Given the description of an element on the screen output the (x, y) to click on. 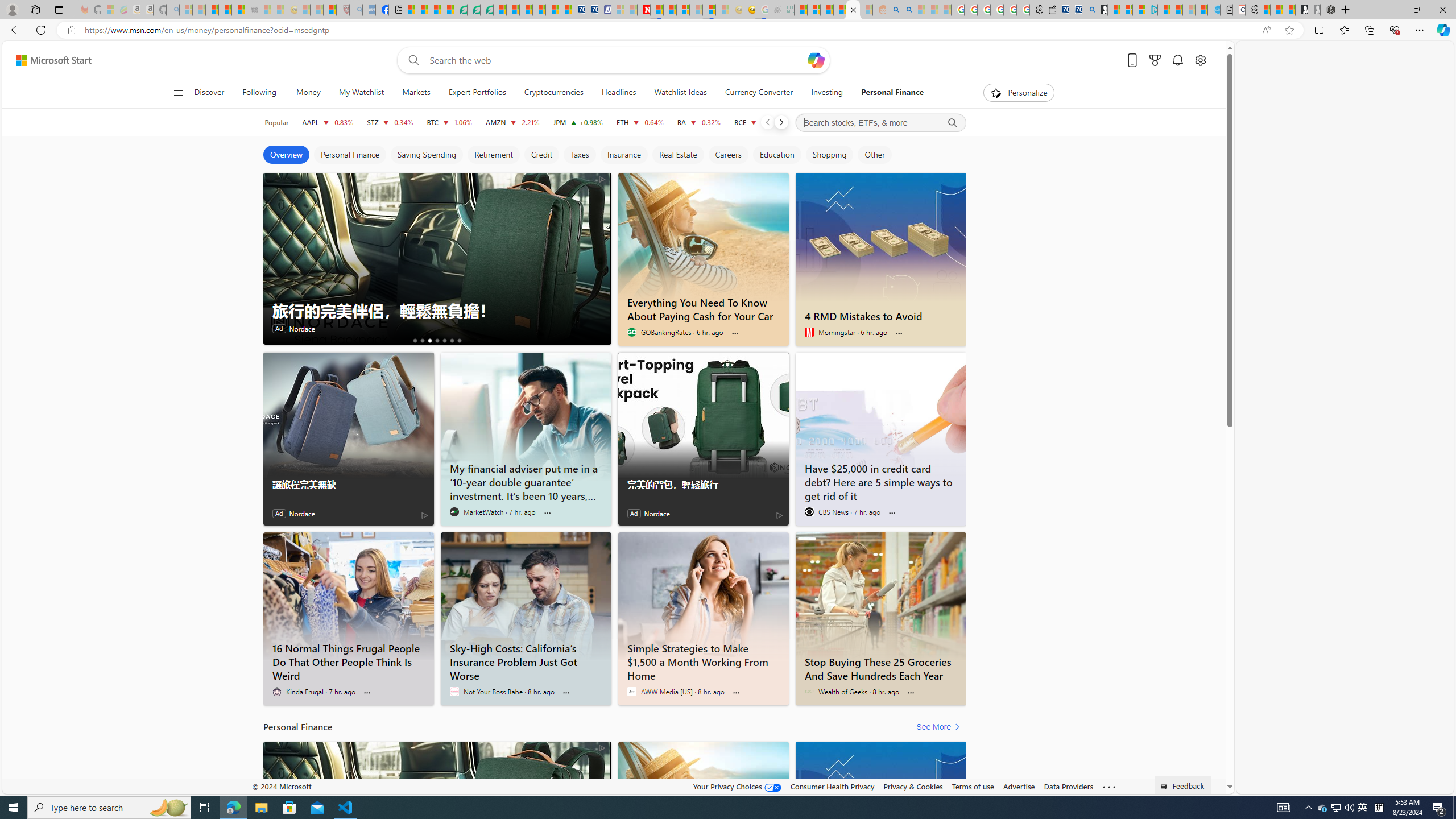
CBS News (808, 511)
Kinda Frugal (276, 691)
Not Your Boss Babe (453, 691)
